Given the description of an element on the screen output the (x, y) to click on. 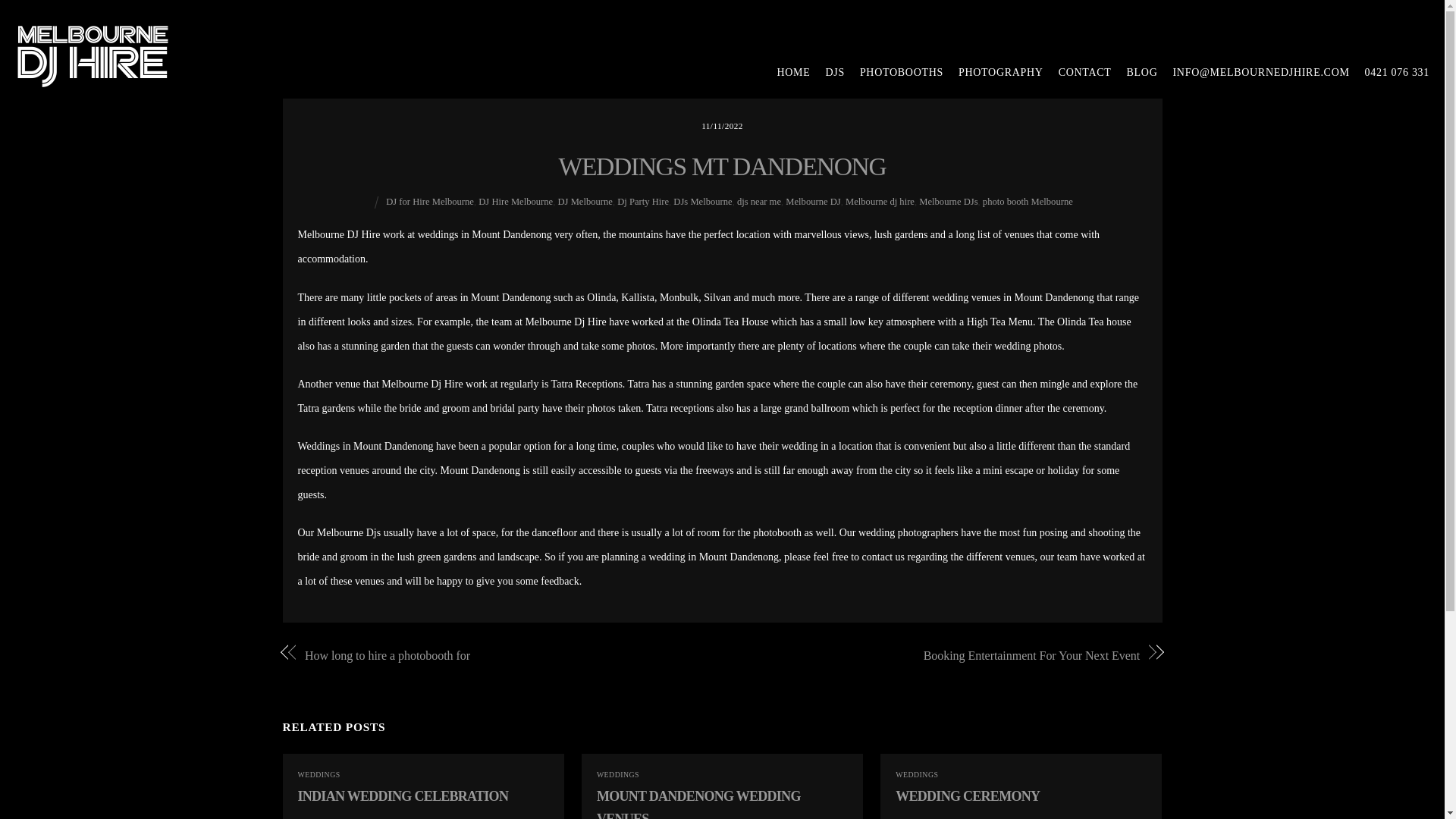
Melbourne DJs (947, 201)
DJS (826, 72)
djs near me (758, 201)
DJ Melbourne (584, 201)
WEDDINGS (617, 774)
MOUNT DANDENONG WEDDING VENUES (698, 803)
photo booth Melbourne (1027, 201)
Melbourne DJ (813, 201)
INDIAN WEDDING CELEBRATION (402, 795)
WEDDINGS (916, 774)
WEDDINGS MT DANDENONG (722, 166)
HOME (785, 72)
Melbourne dj hire (879, 201)
PHOTOBOOTHS (893, 72)
Melbourne DJ HIRE (92, 79)
